Given the description of an element on the screen output the (x, y) to click on. 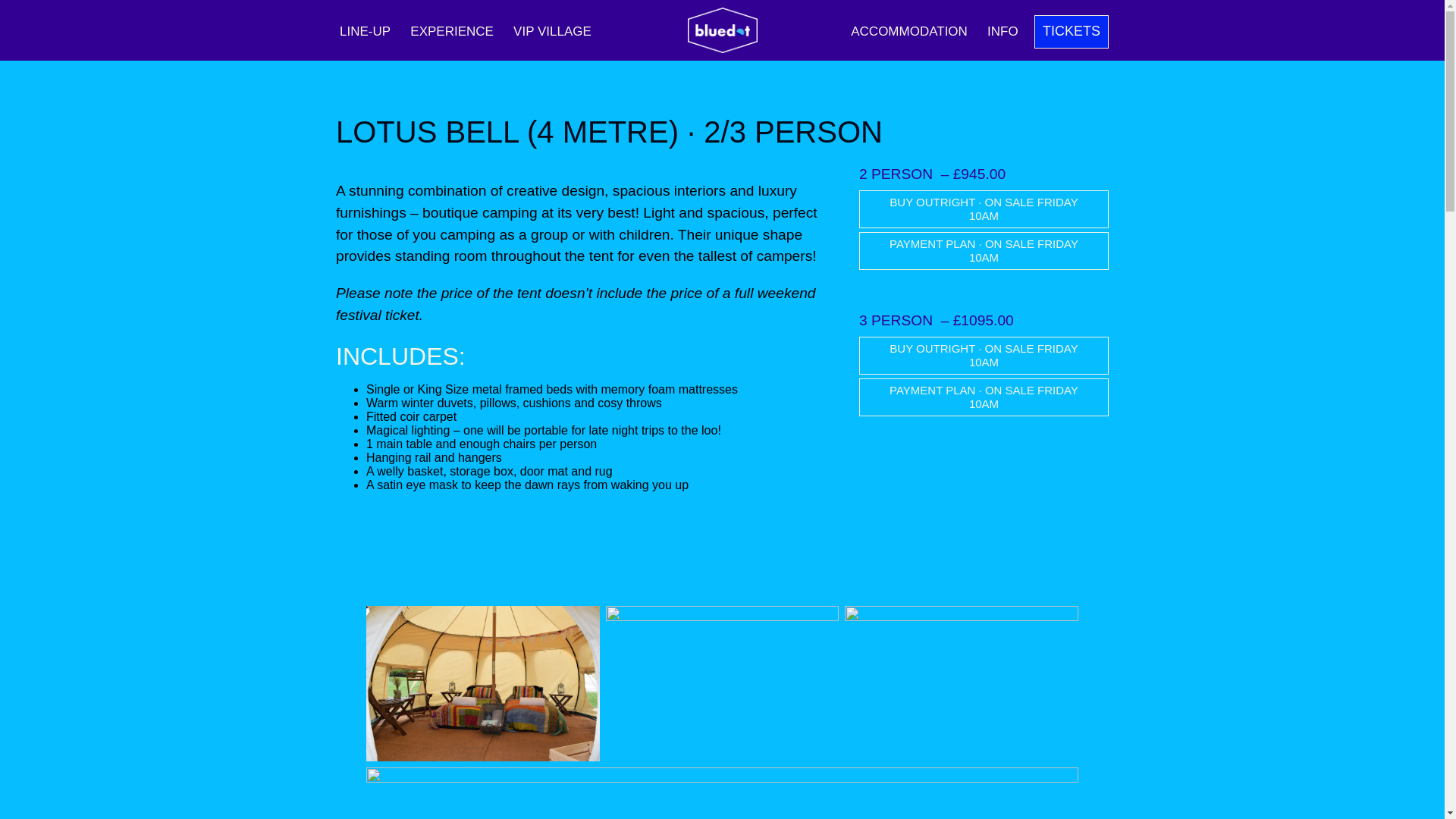
VIP VILLAGE (552, 31)
EXPERIENCE (451, 31)
INFO (1003, 31)
LINE-UP (365, 31)
ACCOMMODATION (909, 31)
TICKETS (1070, 31)
